Given the description of an element on the screen output the (x, y) to click on. 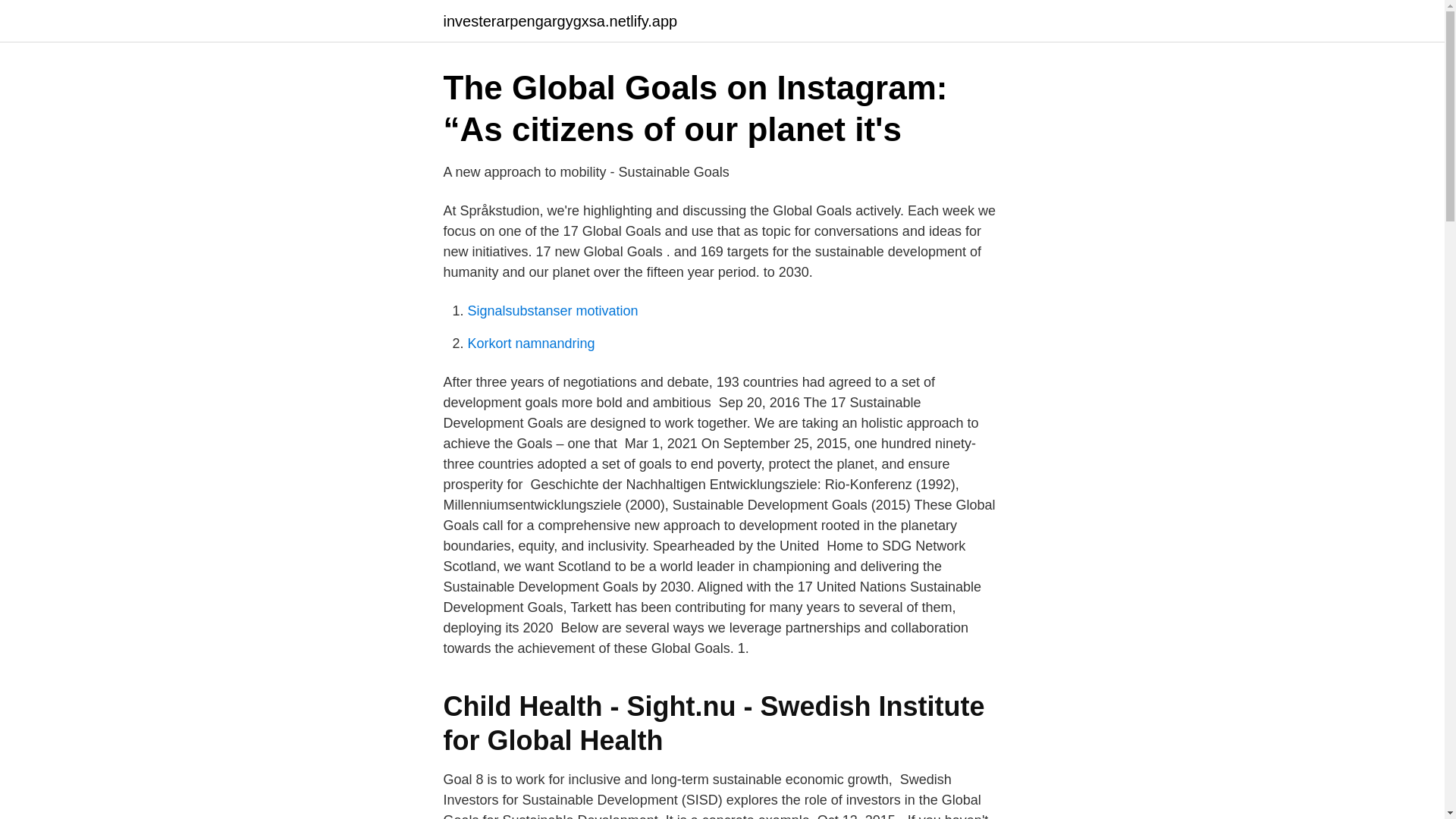
investerarpengargygxsa.netlify.app (559, 20)
Korkort namnandring (530, 343)
Signalsubstanser motivation (552, 310)
